Given the description of an element on the screen output the (x, y) to click on. 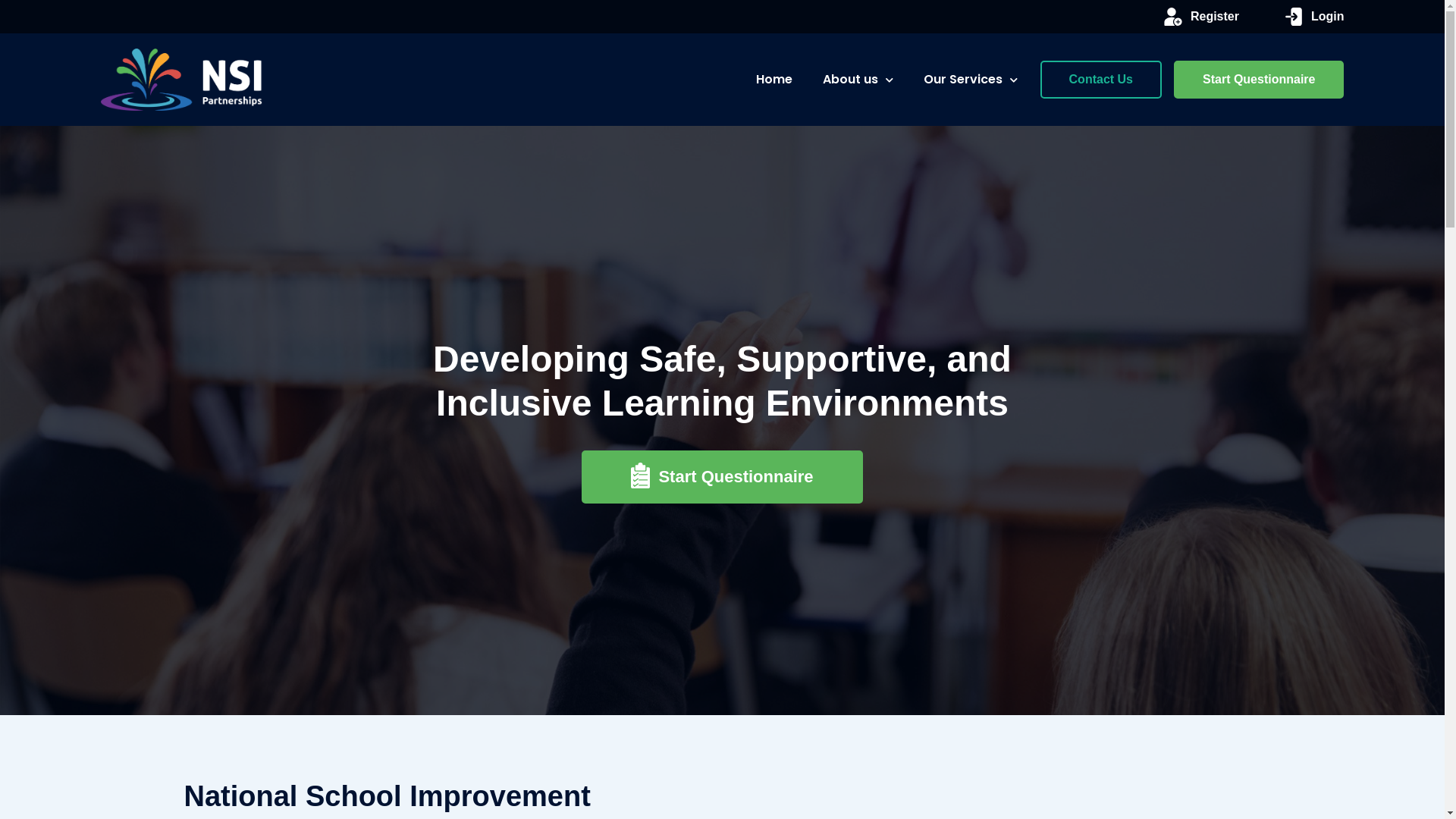
Our Services Element type: text (970, 79)
Start Questionnaire Element type: text (721, 476)
Start Questionnaire Element type: text (1258, 79)
Home Element type: text (774, 79)
About us Element type: text (857, 79)
Login Element type: text (1314, 16)
Contact Us Element type: text (1100, 79)
Register Element type: text (1201, 16)
